Given the description of an element on the screen output the (x, y) to click on. 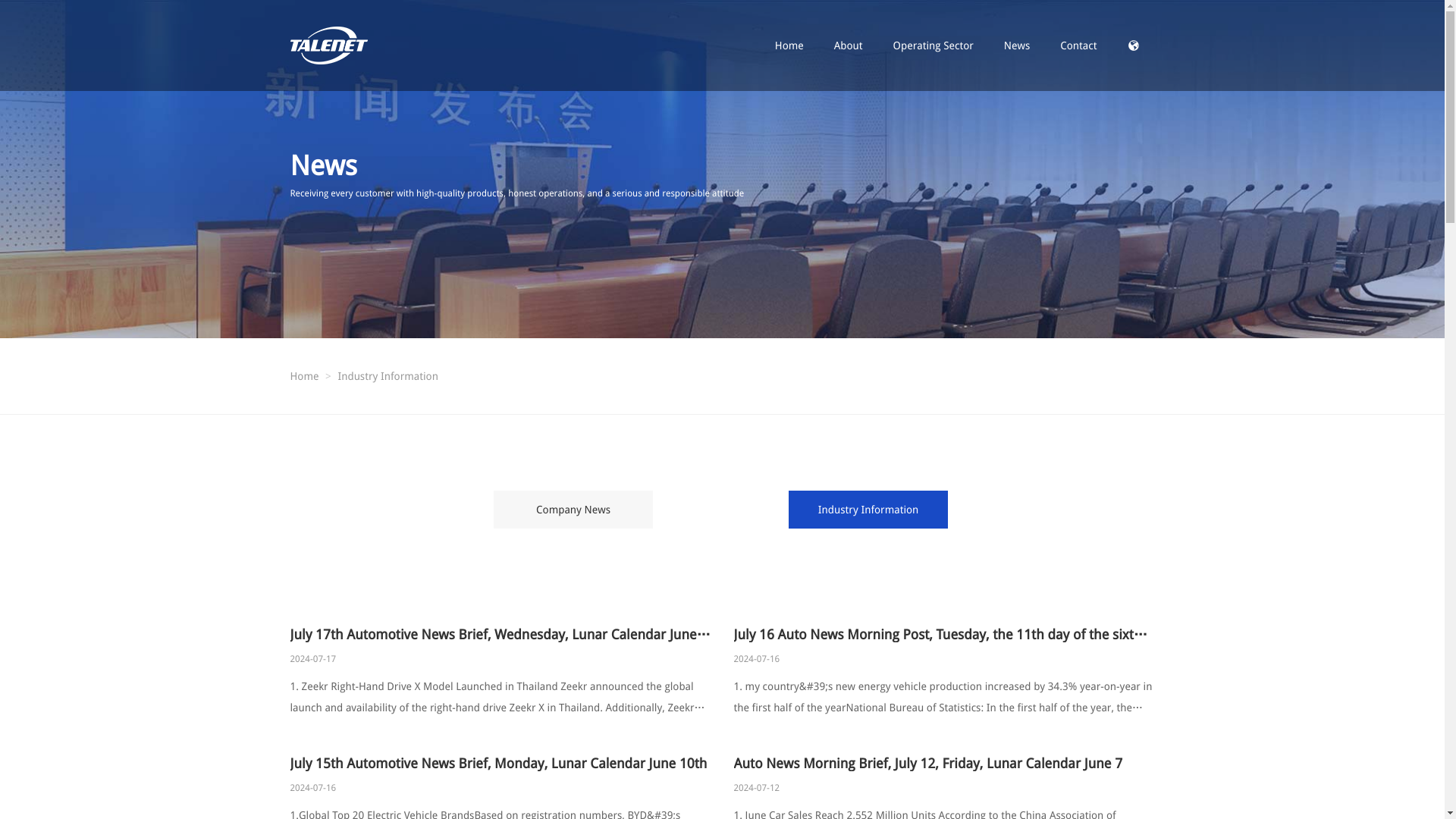
Industry Information (868, 509)
Company News (572, 509)
Home (303, 376)
Operating Sector (932, 45)
